Given the description of an element on the screen output the (x, y) to click on. 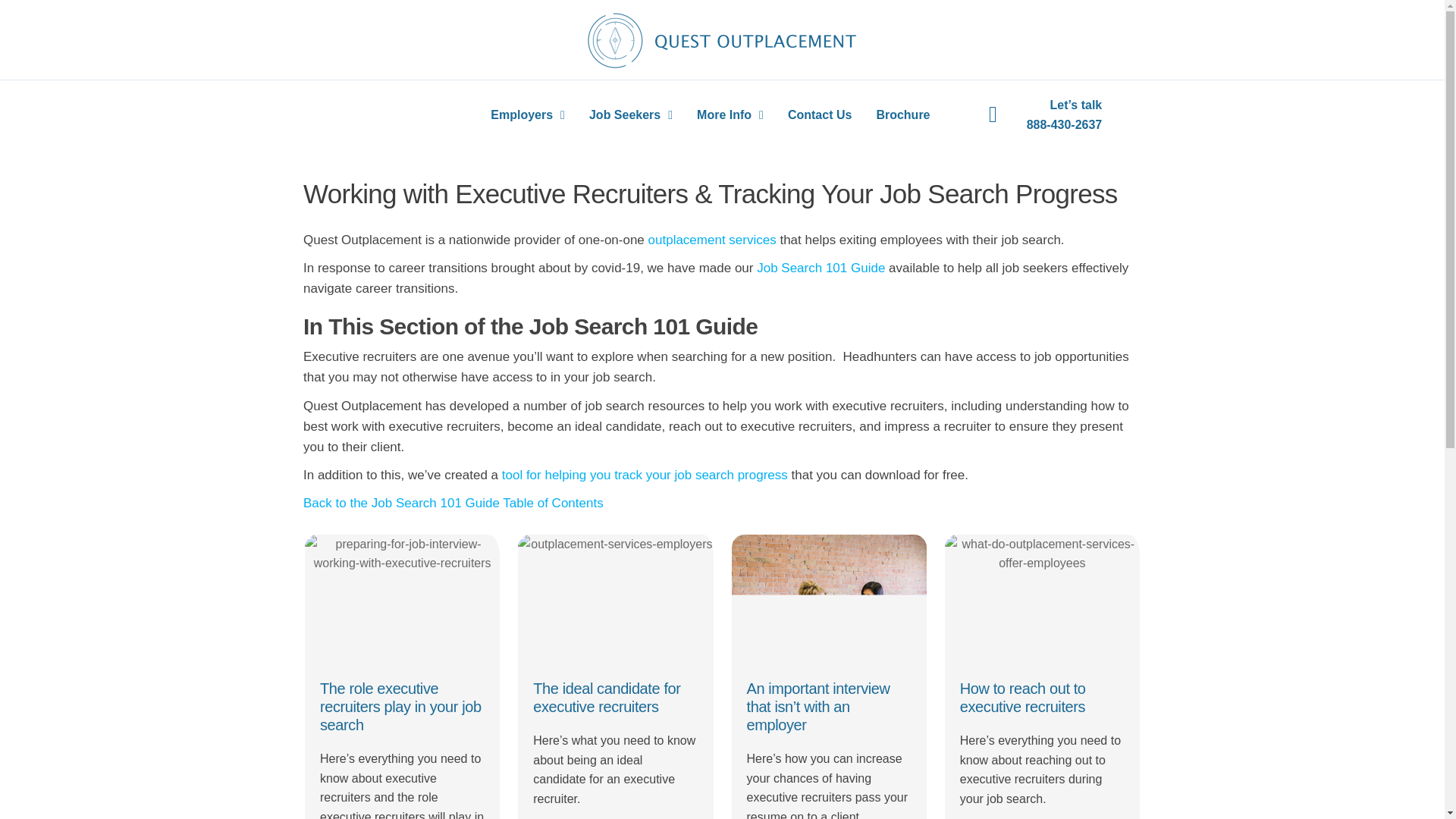
More Info (730, 115)
Job Seekers (630, 115)
logo-outplacement (721, 39)
Employers (527, 115)
Contact Us (819, 115)
Brochure (902, 115)
